Given the description of an element on the screen output the (x, y) to click on. 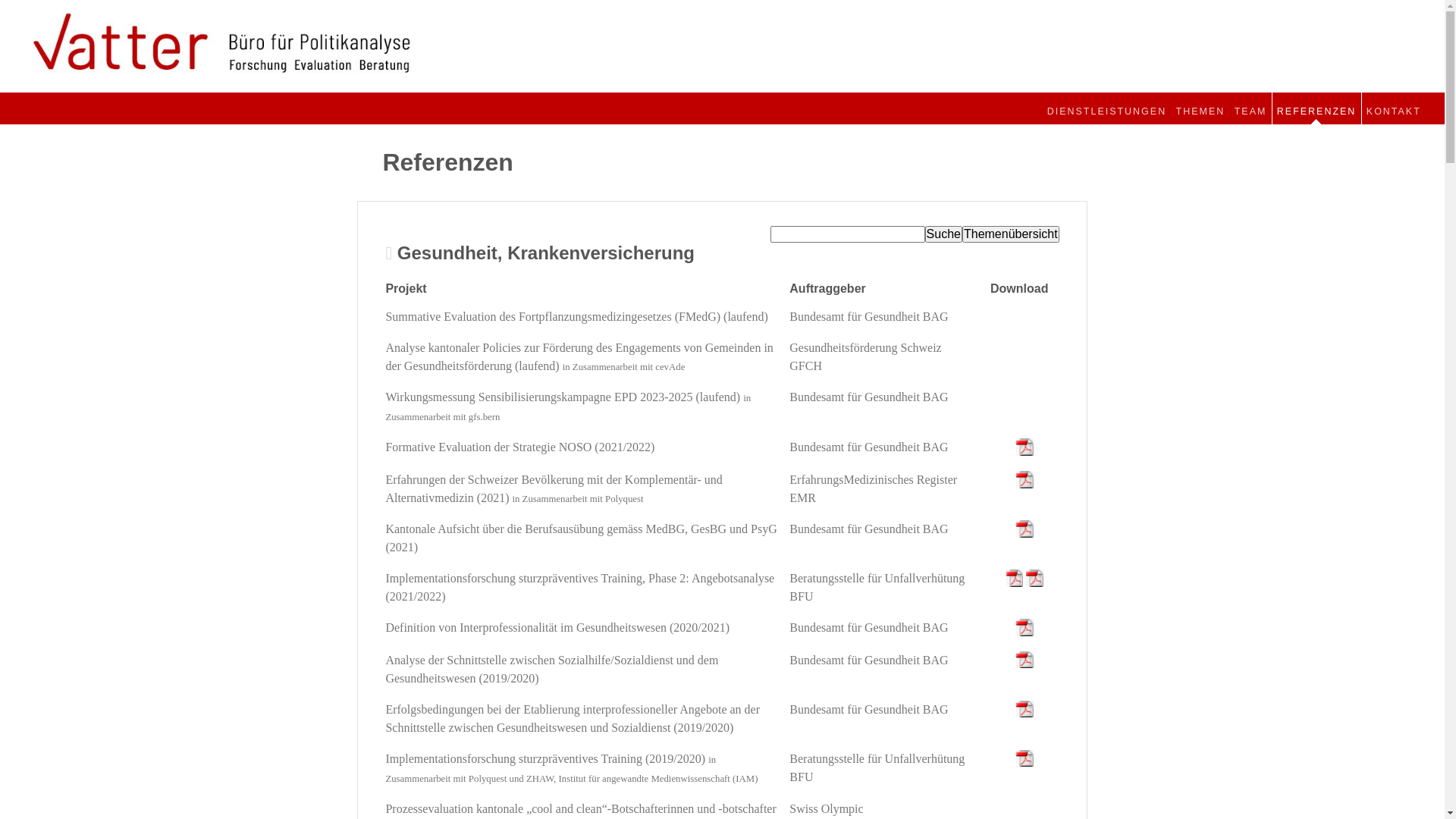
KONTAKT Element type: text (1393, 108)
DIENSTLEISTUNGEN Element type: text (1105, 108)
Suche Element type: text (943, 233)
TEAM Element type: text (1250, 108)
REFERENZEN Element type: text (1316, 108)
THEMEN Element type: text (1199, 108)
